Given the description of an element on the screen output the (x, y) to click on. 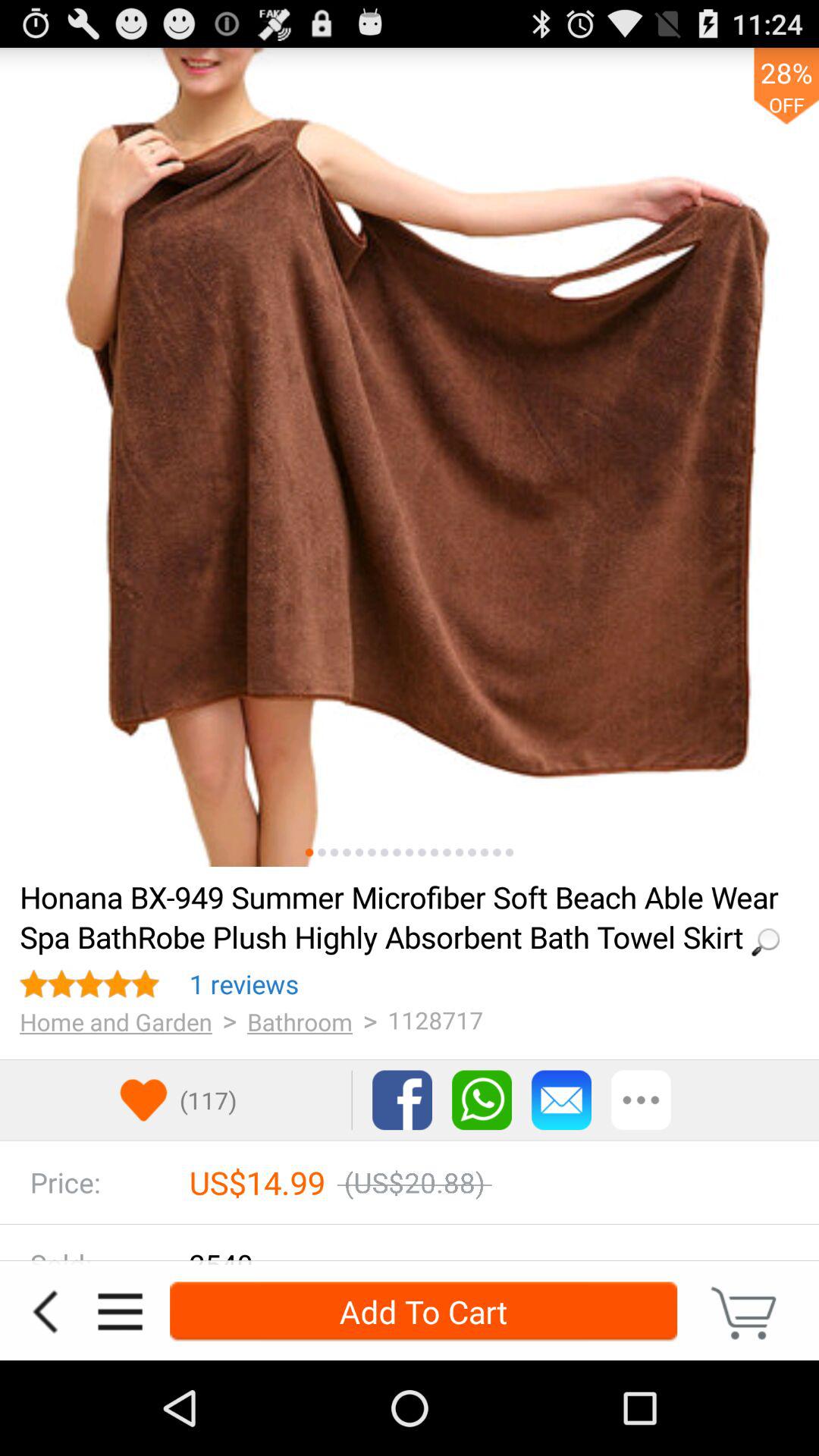
select icon at the top (409, 456)
